Given the description of an element on the screen output the (x, y) to click on. 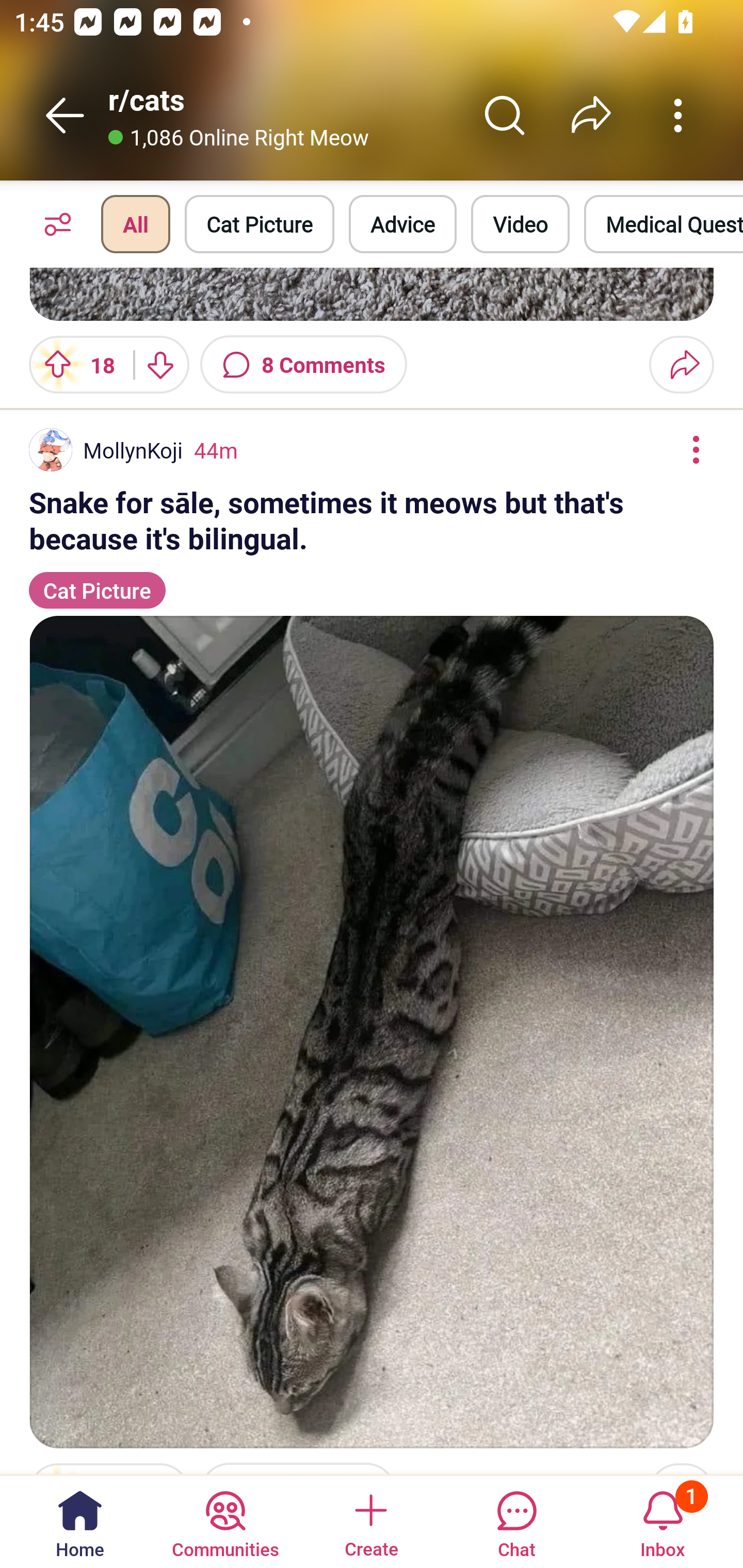
Back (64, 115)
Search r/﻿cats (504, 115)
Share r/﻿cats (591, 115)
More community actions (677, 115)
Feed Options (53, 224)
All (135, 224)
Cat Picture (259, 224)
Advice (402, 224)
Video (520, 224)
Medical Questio… (663, 224)
Cat Picture (96, 581)
Home (80, 1520)
Communities (225, 1520)
Create a post Create (370, 1520)
Chat (516, 1520)
Inbox, has 1 notification 1 Inbox (662, 1520)
